Given the description of an element on the screen output the (x, y) to click on. 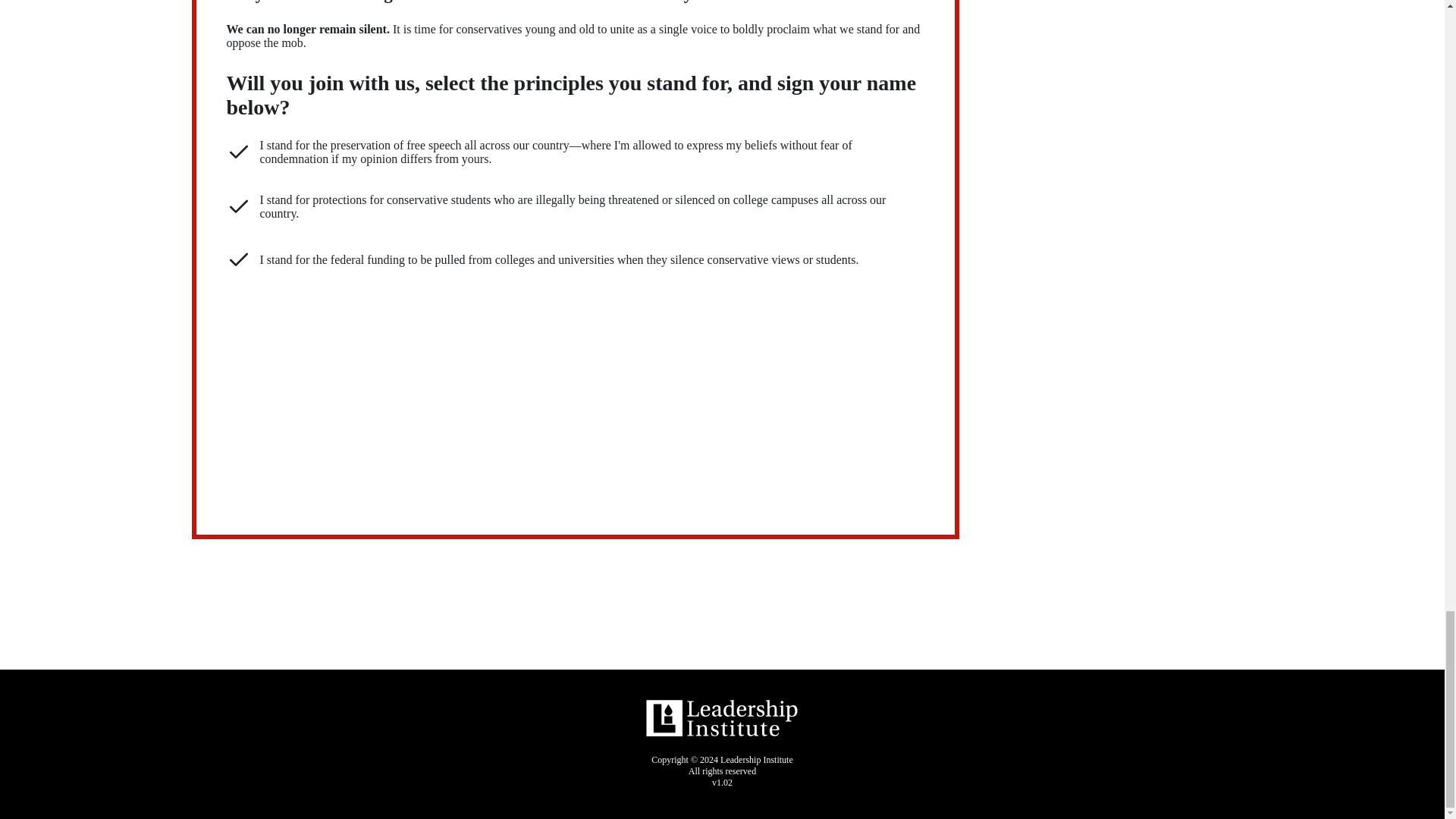
Form 0 (574, 391)
